Given the description of an element on the screen output the (x, y) to click on. 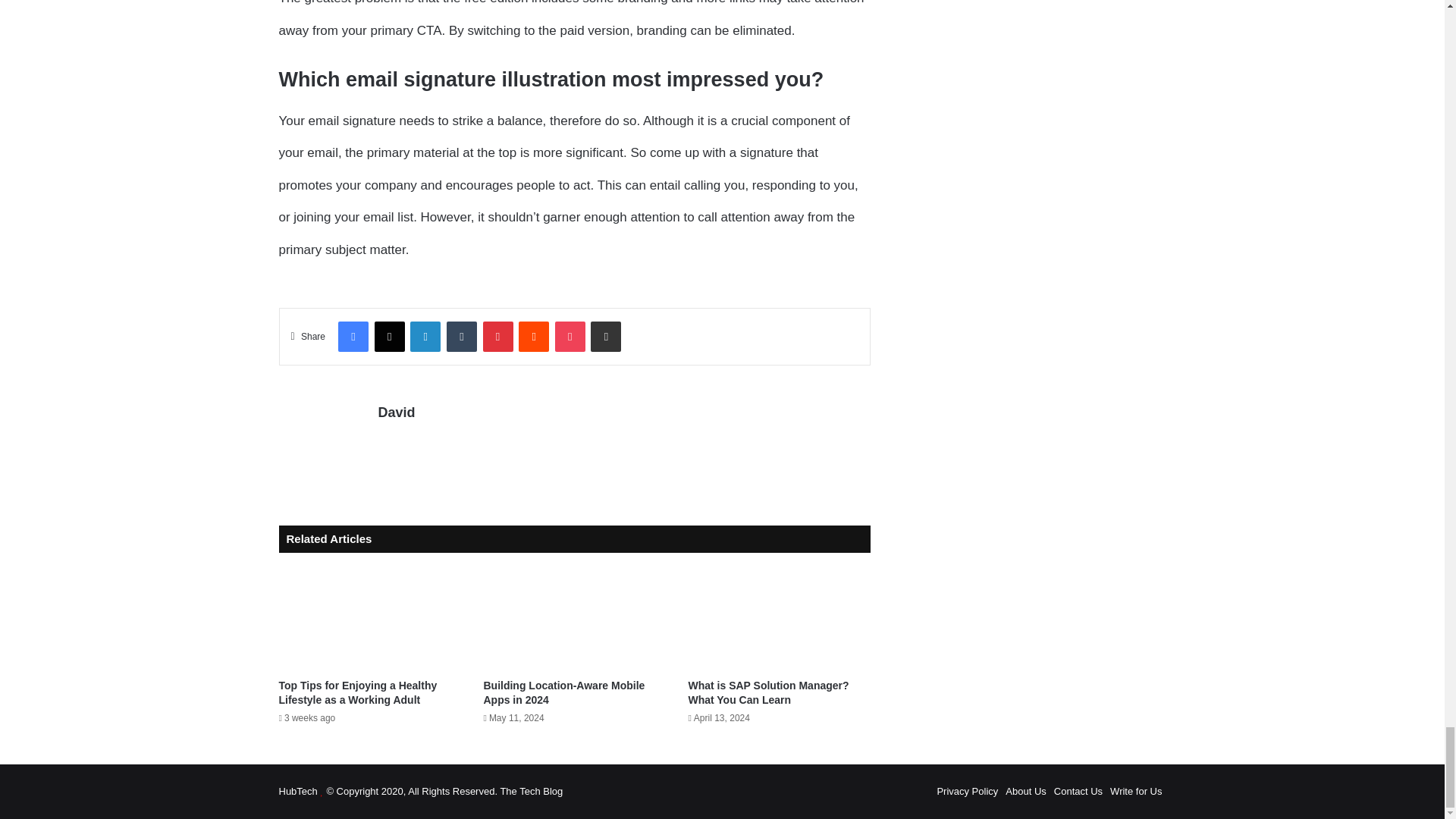
Pinterest (496, 336)
Tumblr (461, 336)
Facebook (352, 336)
Share via Email (606, 336)
Pocket (569, 336)
LinkedIn (425, 336)
X (389, 336)
Reddit (533, 336)
